Given the description of an element on the screen output the (x, y) to click on. 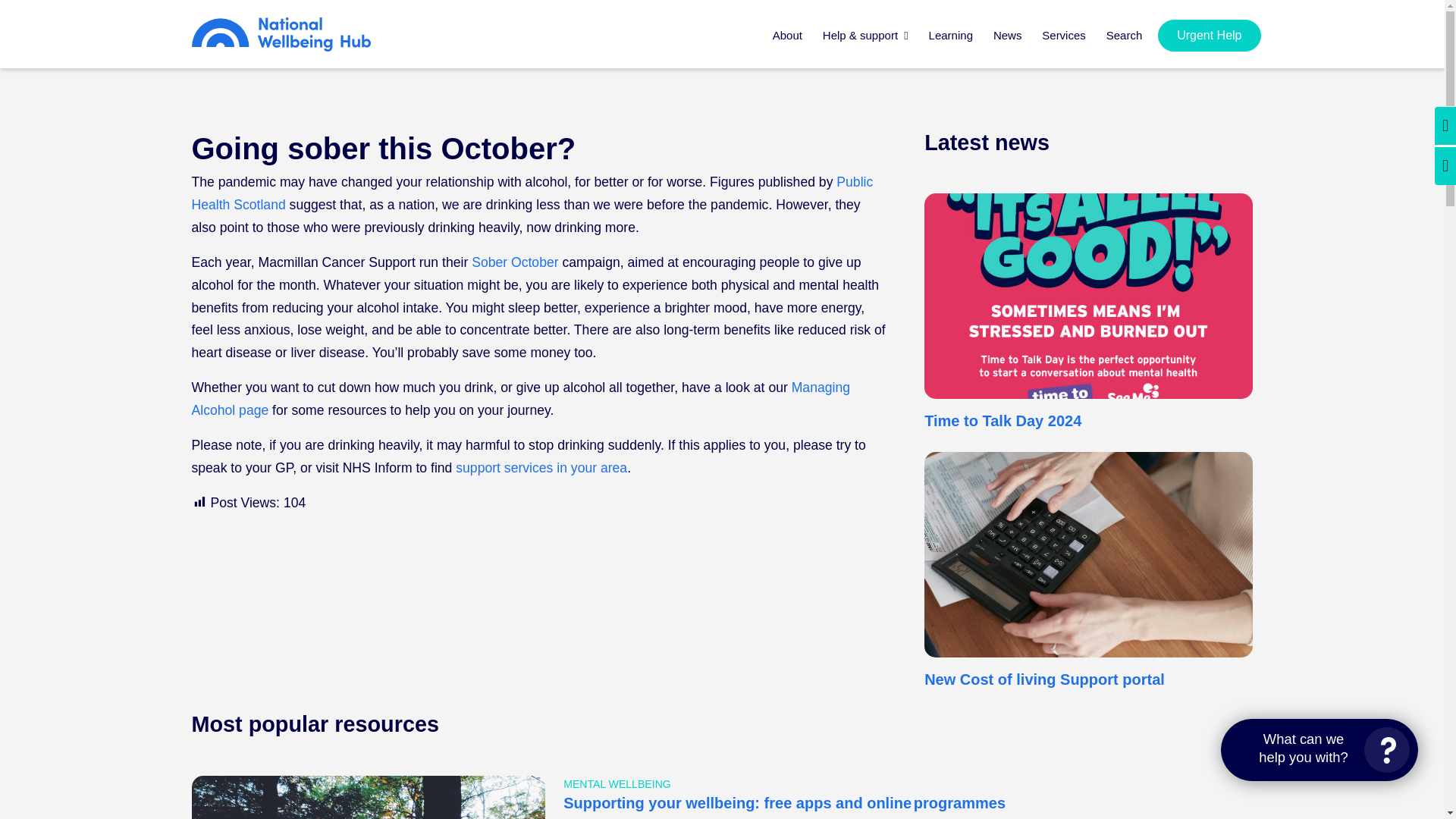
Services (1063, 44)
What can we help you with? (1319, 750)
New Cost of living Support portal (1044, 678)
MENTAL WELLBEING (617, 784)
Public Health Scotland (531, 193)
support services in your area (541, 467)
Sober October (514, 262)
Time to Talk Day 2024 (1002, 420)
Urgent Help (1208, 35)
